Given the description of an element on the screen output the (x, y) to click on. 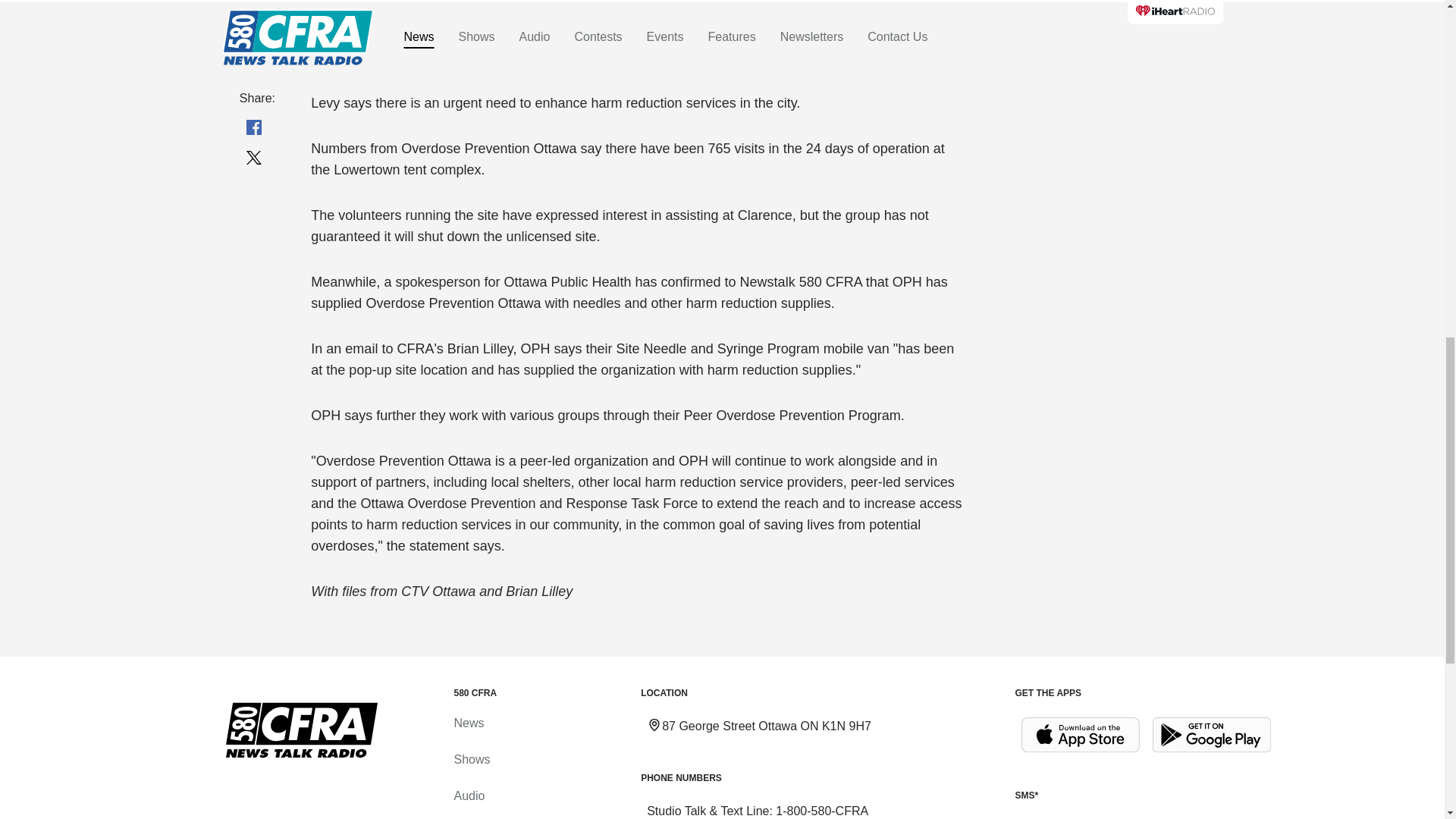
Audio (468, 795)
Download on the App Store (1080, 734)
News (467, 722)
Shows (470, 758)
Get it on Google Play (1212, 734)
